Given the description of an element on the screen output the (x, y) to click on. 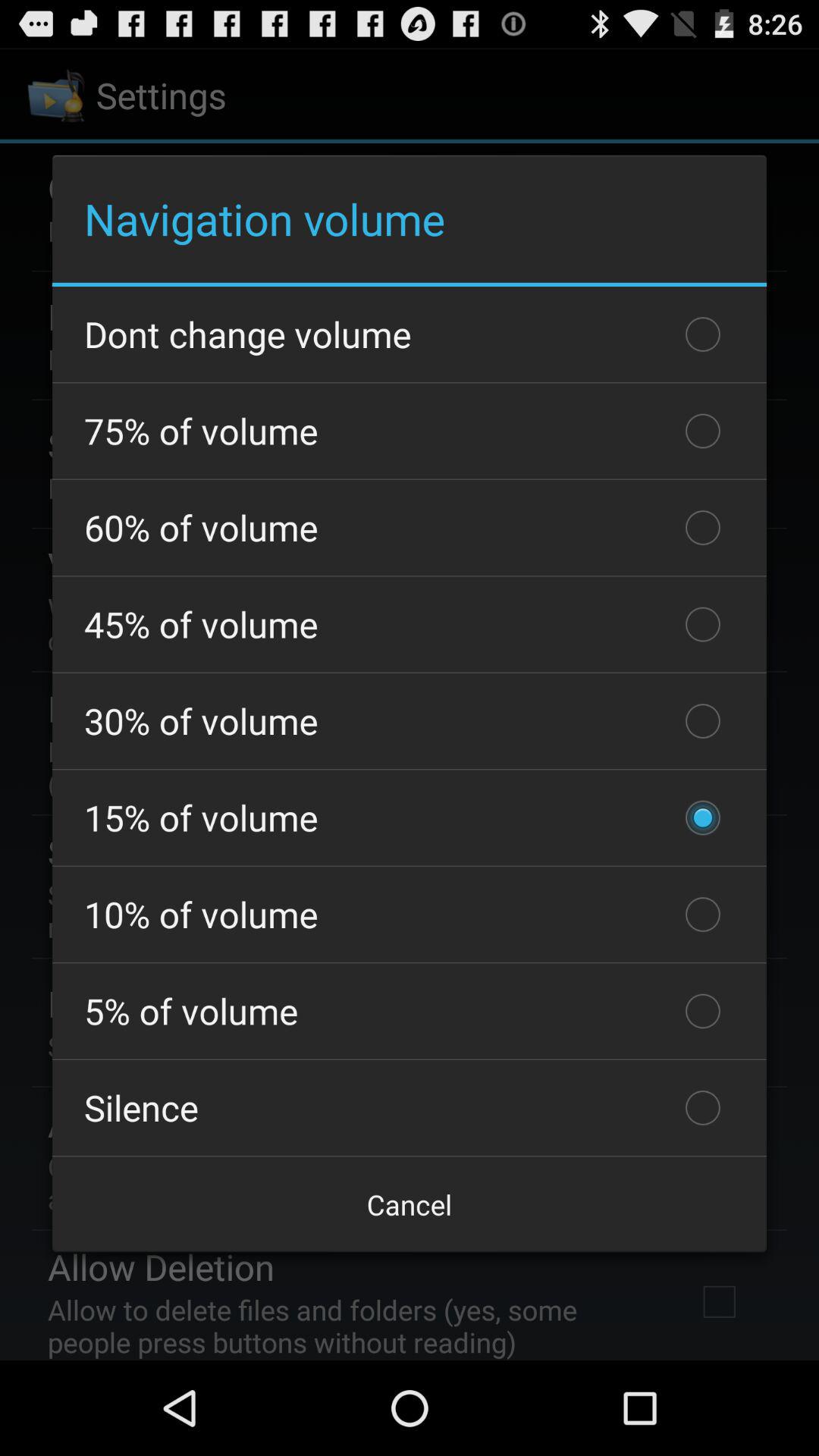
jump to cancel item (409, 1204)
